Given the description of an element on the screen output the (x, y) to click on. 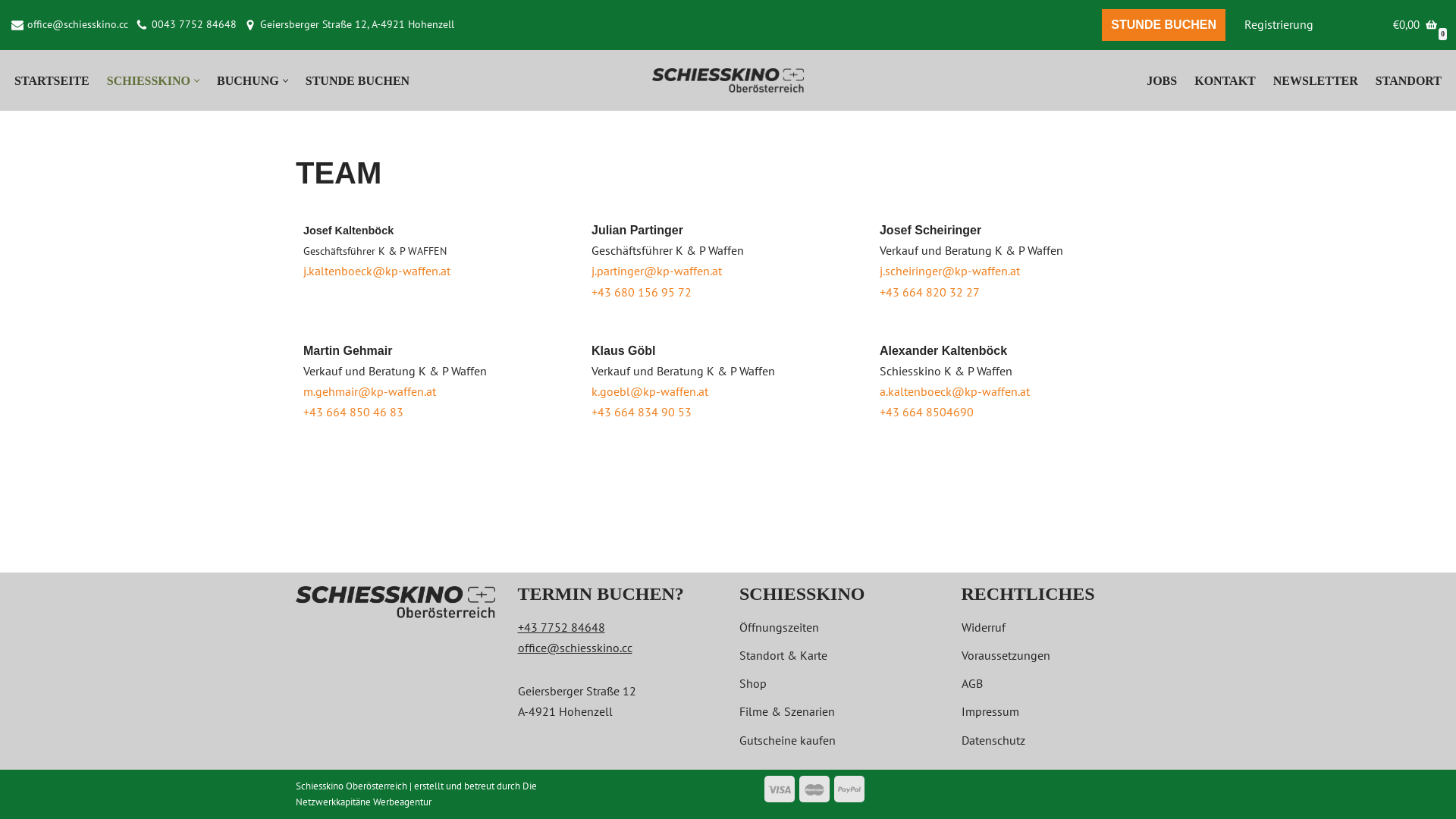
Datenschutz Element type: text (993, 739)
Standort & Karte Element type: text (783, 654)
Widerruf Element type: text (983, 626)
STUNDE BUCHEN Element type: text (357, 80)
Gutscheine kaufen Element type: text (787, 739)
STANDORT Element type: text (1408, 80)
NEWSLETTER Element type: text (1315, 80)
Shop Element type: text (752, 682)
STARTSEITE Element type: text (51, 80)
+43 7752 84648 Element type: text (560, 626)
SCHIESSKINO Element type: text (148, 80)
+43 664 820 32 27 Element type: text (929, 291)
j.partinger@kp-waffen.at Element type: text (656, 270)
Zum Inhalt springen Element type: text (11, 31)
office@schiesskino.cc Element type: text (77, 24)
+43 664 834 90 53 Element type: text (641, 411)
KONTAKT Element type: text (1224, 80)
Impressum Element type: text (990, 710)
0043 7752 84648 Element type: text (193, 24)
+43 680 156 95 72 Element type: text (641, 291)
AGB Element type: text (971, 682)
j.kaltenboeck@kp-waffen.at Element type: text (376, 270)
a.kaltenboeck@kp-waffen.at Element type: text (954, 390)
BUCHUNG Element type: text (247, 80)
k.goebl@kp-waffen.at Element type: text (649, 390)
Filme & Szenarien Element type: text (786, 710)
JOBS Element type: text (1161, 80)
+43 664 850 46 83 Element type: text (353, 411)
m.gehmair@kp-waffen.at Element type: text (369, 390)
STUNDE BUCHEN Element type: text (1163, 24)
Registrierung Element type: text (1278, 24)
j.scheiringer@kp-waffen.at Element type: text (949, 270)
office@schiesskino.cc Element type: text (574, 647)
Voraussetzungen Element type: text (1005, 654)
+43 664 8504690 Element type: text (926, 411)
